Given the description of an element on the screen output the (x, y) to click on. 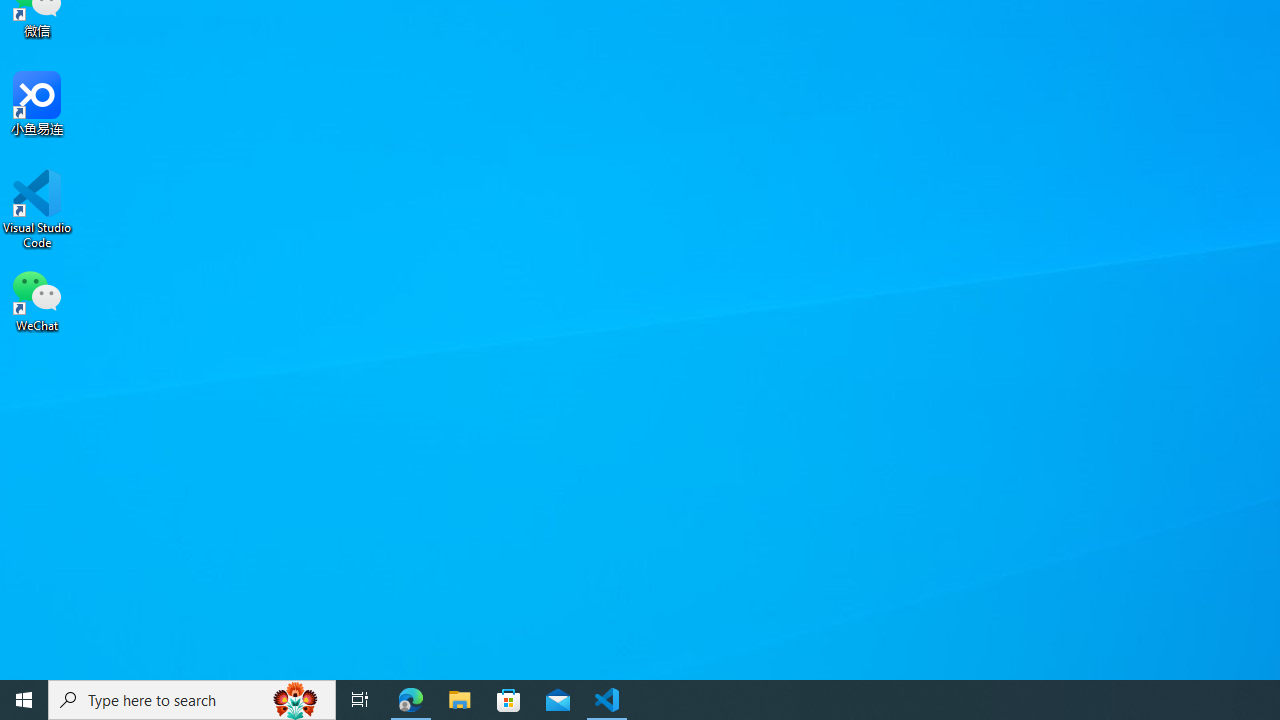
Visual Studio Code (37, 209)
WeChat (37, 299)
